Given the description of an element on the screen output the (x, y) to click on. 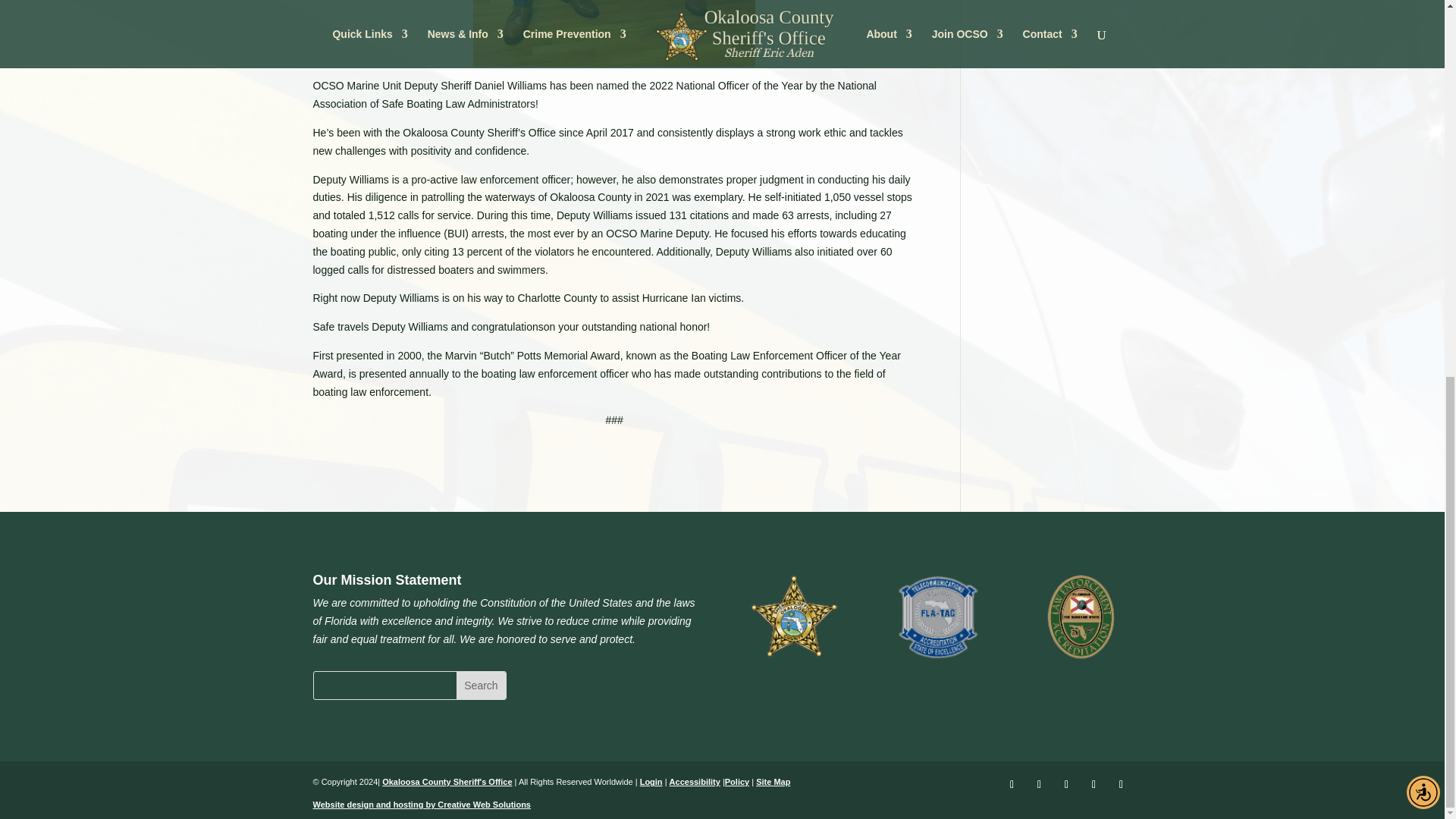
CFA (1082, 616)
Accessibility Menu (1422, 96)
Follow on Instagram (1093, 784)
Okaloosa County Sheriff's Office (794, 616)
Follow on Facebook (1011, 784)
Follow on Youtube (1066, 784)
Search (481, 685)
Follow on X (1038, 784)
Search (481, 685)
FLA-TAC Accreditation (938, 616)
Follow on LinkedIn (1120, 784)
